Given the description of an element on the screen output the (x, y) to click on. 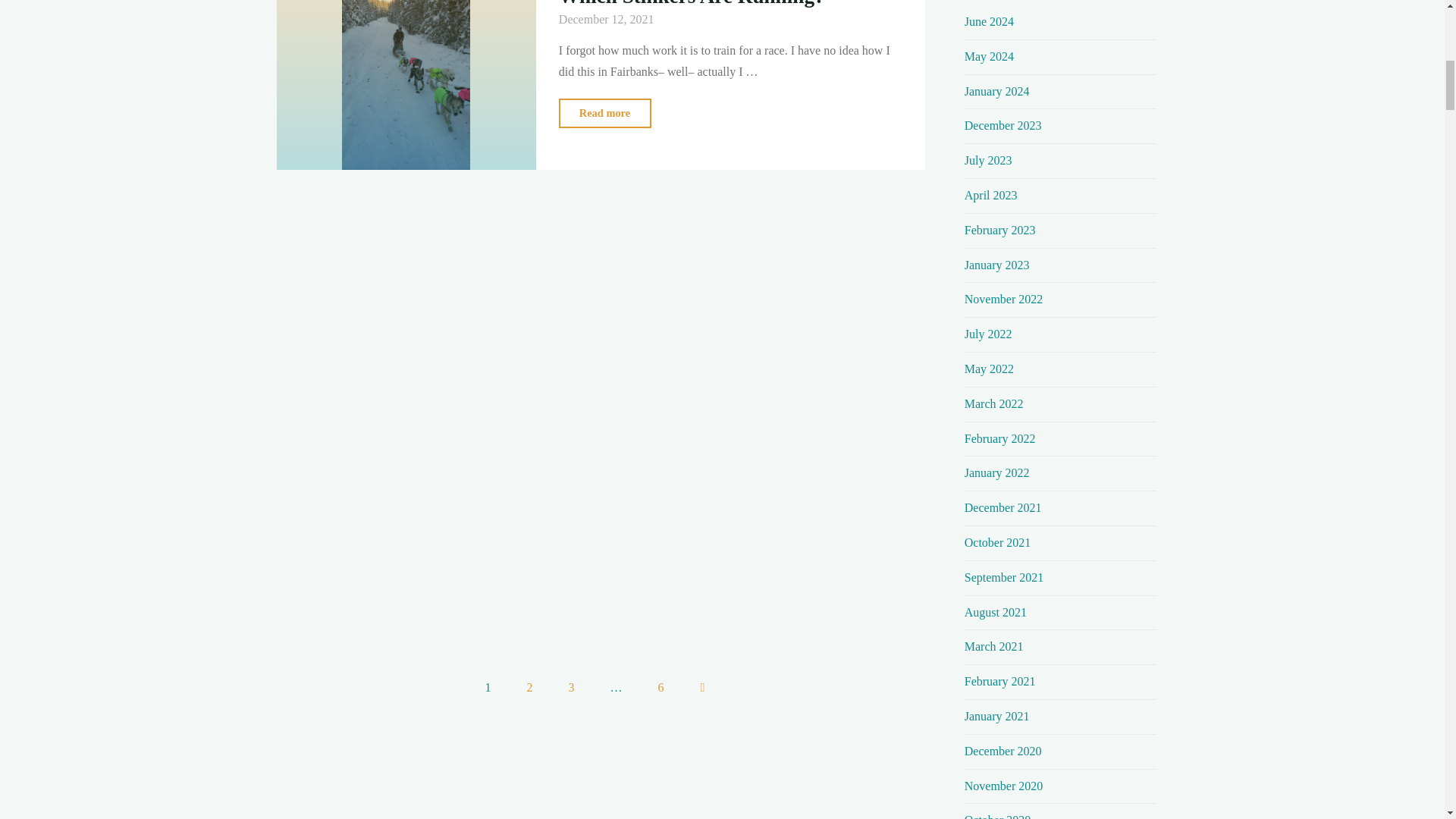
Which Stinkers Are Running? (405, 84)
Which Stinkers Are Running? (604, 112)
